Given the description of an element on the screen output the (x, y) to click on. 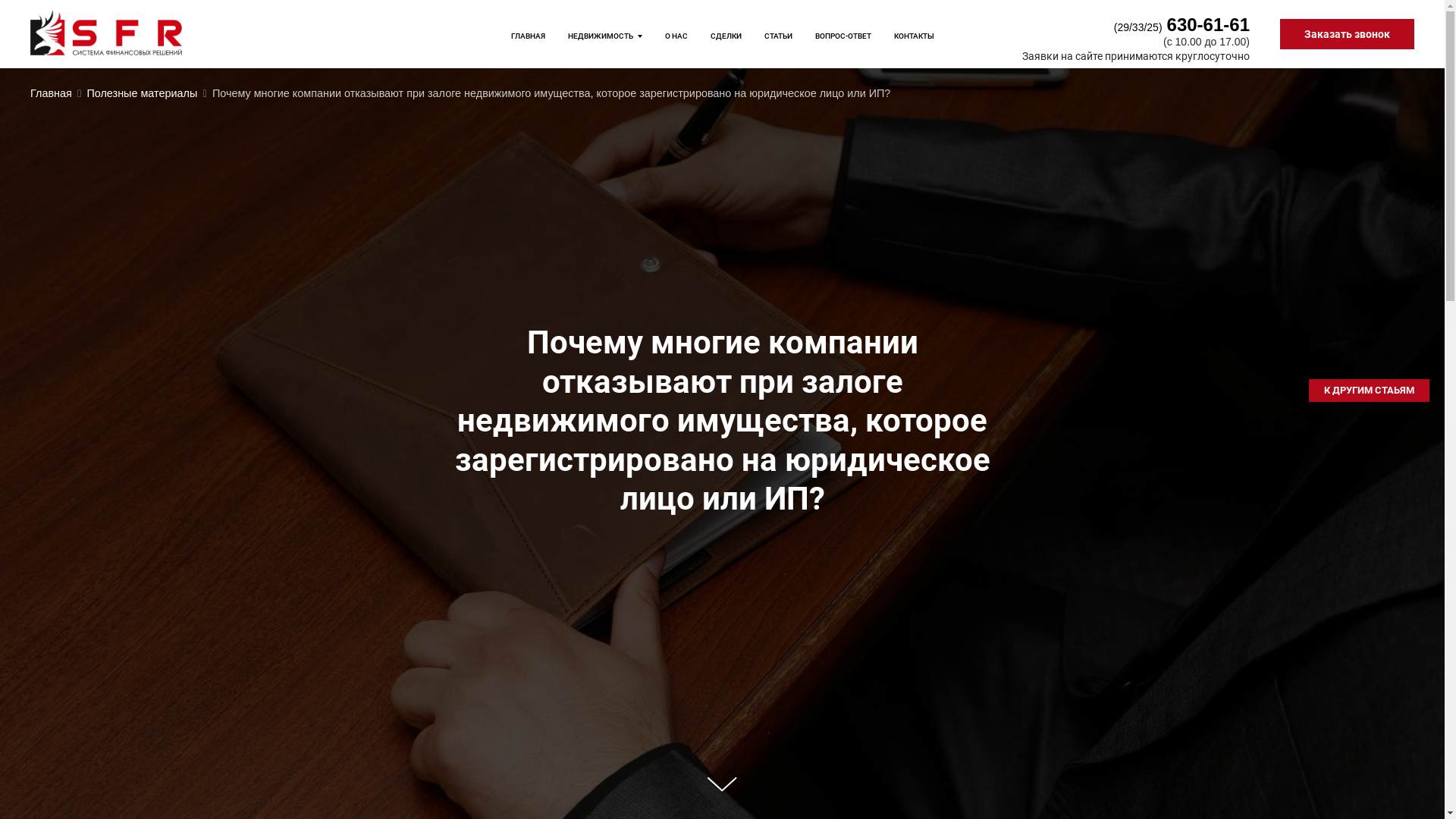
(29/33/25) Element type: text (1137, 27)
630-61-61 Element type: text (1208, 23)
